Given the description of an element on the screen output the (x, y) to click on. 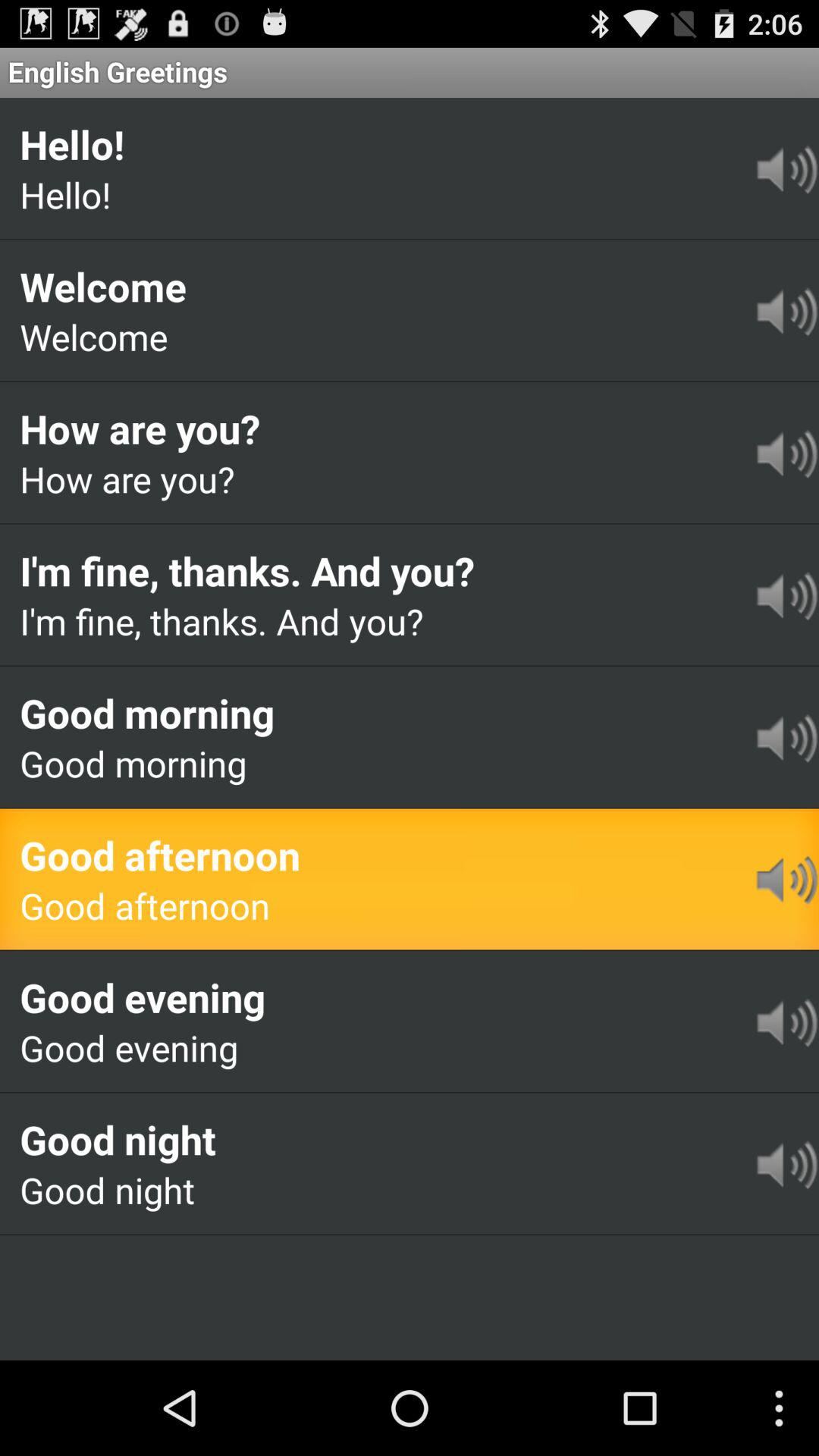
scroll until the goodbye icon (98, 1257)
